Given the description of an element on the screen output the (x, y) to click on. 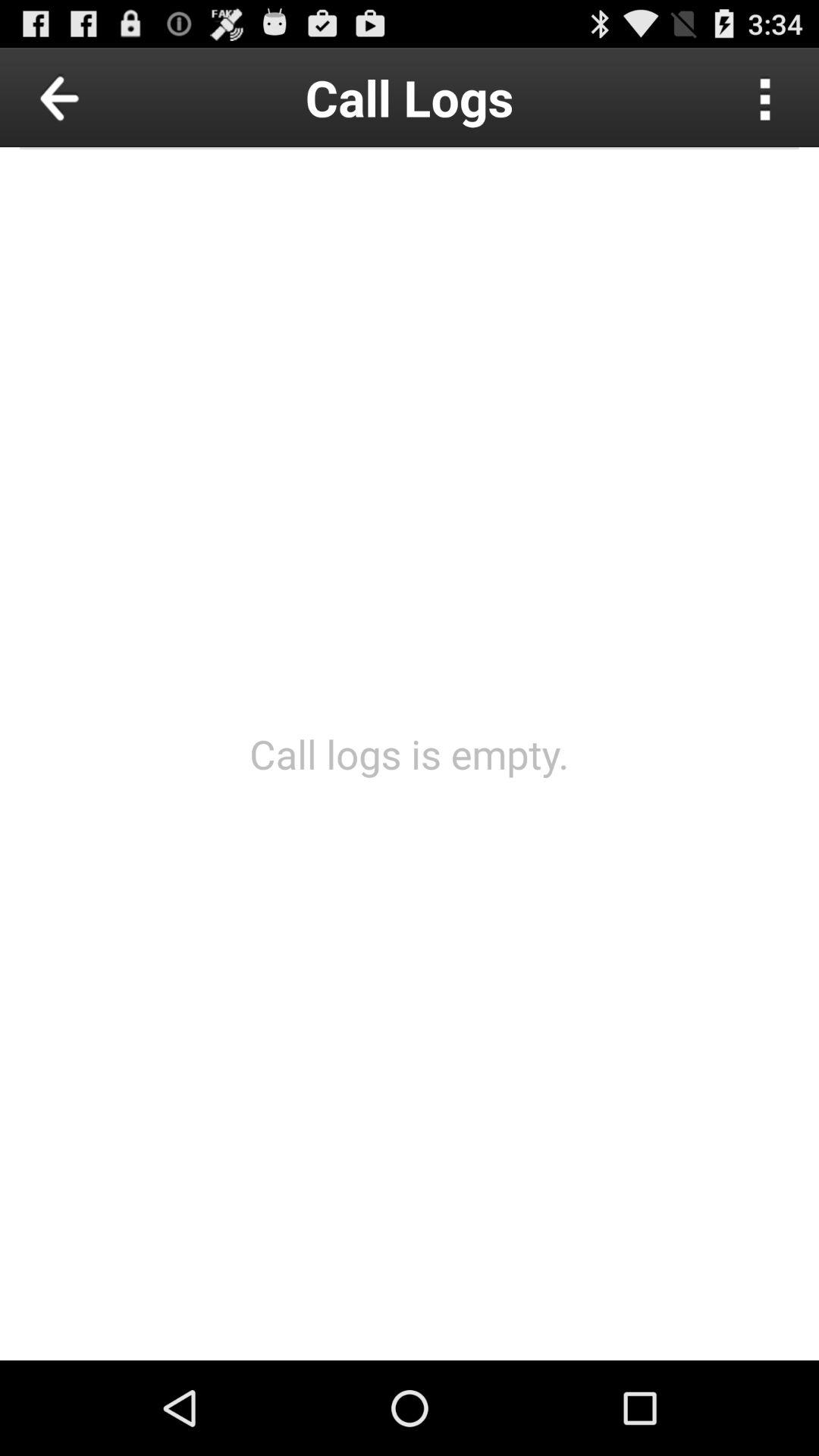
choose more options (765, 97)
